Given the description of an element on the screen output the (x, y) to click on. 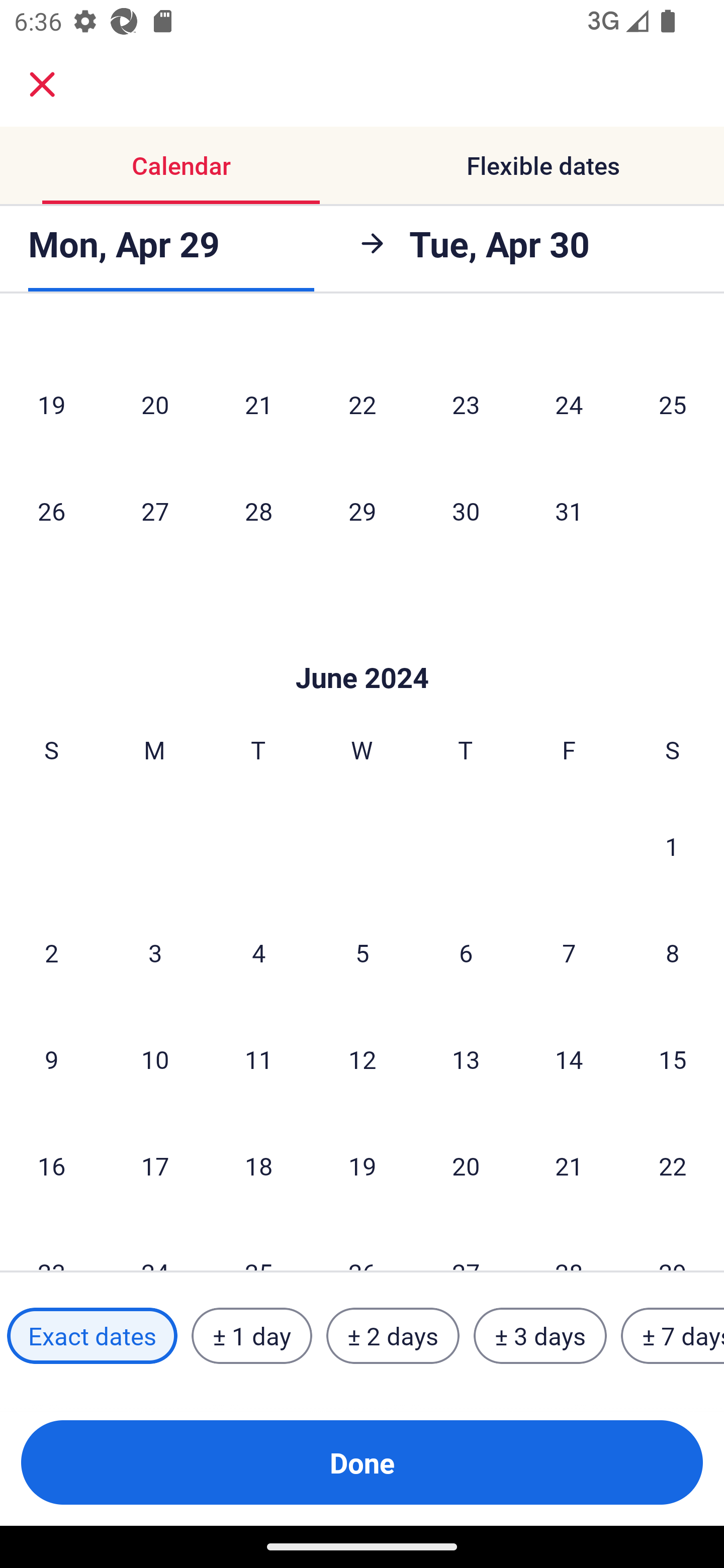
close. (42, 84)
Flexible dates (542, 164)
19 Sunday, May 19, 2024 (51, 404)
20 Monday, May 20, 2024 (155, 404)
21 Tuesday, May 21, 2024 (258, 404)
22 Wednesday, May 22, 2024 (362, 404)
23 Thursday, May 23, 2024 (465, 404)
24 Friday, May 24, 2024 (569, 404)
25 Saturday, May 25, 2024 (672, 404)
26 Sunday, May 26, 2024 (51, 510)
27 Monday, May 27, 2024 (155, 510)
28 Tuesday, May 28, 2024 (258, 510)
29 Wednesday, May 29, 2024 (362, 510)
30 Thursday, May 30, 2024 (465, 510)
31 Friday, May 31, 2024 (569, 510)
Skip to Done (362, 647)
1 Saturday, June 1, 2024 (672, 845)
2 Sunday, June 2, 2024 (51, 952)
3 Monday, June 3, 2024 (155, 952)
4 Tuesday, June 4, 2024 (258, 952)
5 Wednesday, June 5, 2024 (362, 952)
6 Thursday, June 6, 2024 (465, 952)
7 Friday, June 7, 2024 (569, 952)
8 Saturday, June 8, 2024 (672, 952)
9 Sunday, June 9, 2024 (51, 1059)
10 Monday, June 10, 2024 (155, 1059)
11 Tuesday, June 11, 2024 (258, 1059)
12 Wednesday, June 12, 2024 (362, 1059)
13 Thursday, June 13, 2024 (465, 1059)
14 Friday, June 14, 2024 (569, 1059)
15 Saturday, June 15, 2024 (672, 1059)
16 Sunday, June 16, 2024 (51, 1165)
17 Monday, June 17, 2024 (155, 1165)
18 Tuesday, June 18, 2024 (258, 1165)
19 Wednesday, June 19, 2024 (362, 1165)
20 Thursday, June 20, 2024 (465, 1165)
21 Friday, June 21, 2024 (569, 1165)
22 Saturday, June 22, 2024 (672, 1165)
Exact dates (92, 1335)
± 1 day (251, 1335)
± 2 days (392, 1335)
± 3 days (539, 1335)
± 7 days (672, 1335)
Done (361, 1462)
